Given the description of an element on the screen output the (x, y) to click on. 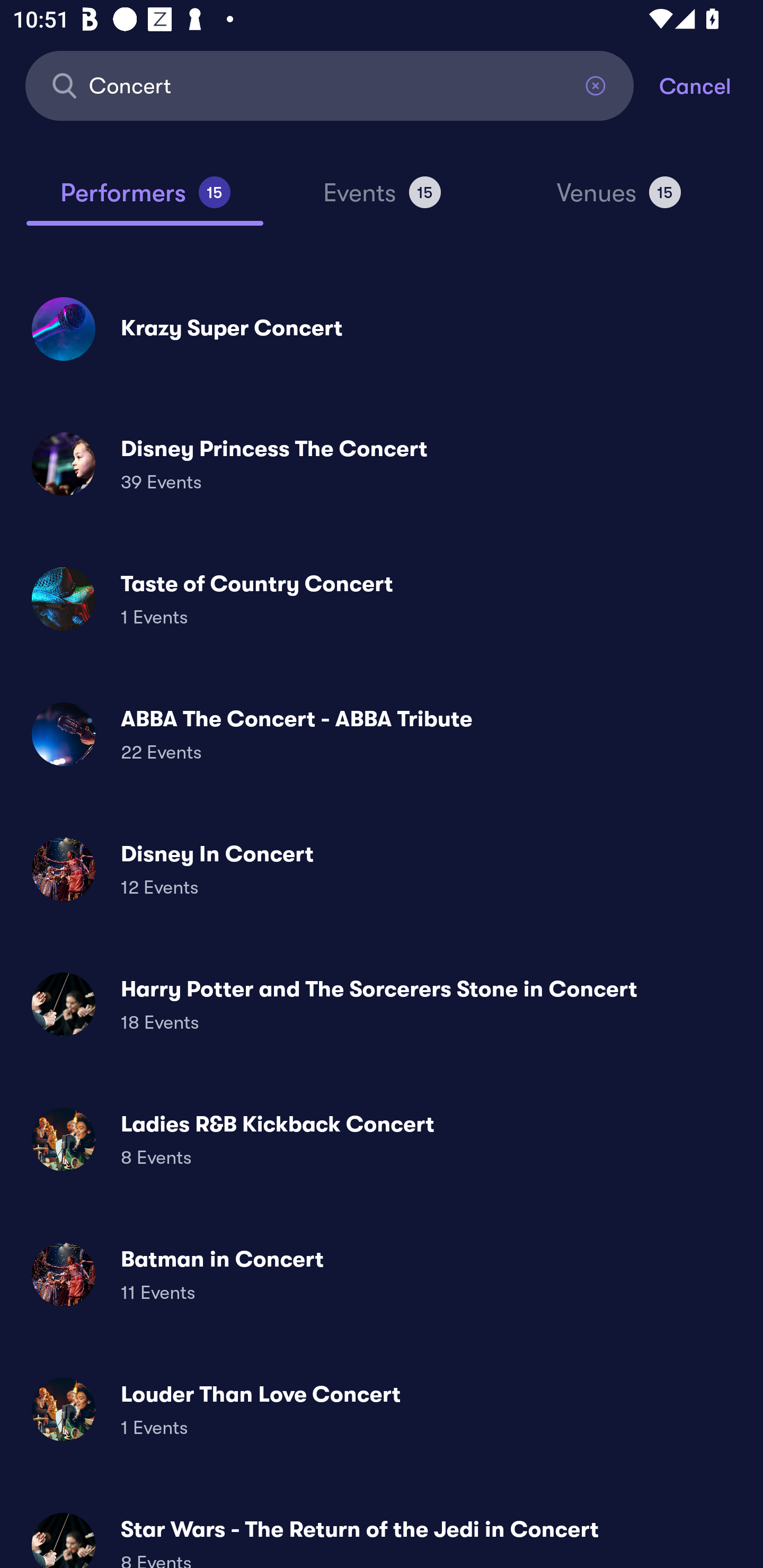
Concert Find (329, 85)
Concert Find (329, 85)
Cancel (711, 85)
Performers 15 (144, 200)
Events 15 (381, 200)
Venues 15 (618, 200)
Krazy Super Concert (381, 328)
Disney Princess The Concert 39 Events (381, 464)
Taste of Country Concert 1 Events (381, 598)
ABBA The Concert - ABBA Tribute 22 Events (381, 734)
Disney In Concert 12 Events (381, 869)
Ladies R&B Kickback Concert 8 Events (381, 1138)
Batman in Concert 11 Events (381, 1273)
Louder Than Love Concert 1 Events (381, 1409)
